Given the description of an element on the screen output the (x, y) to click on. 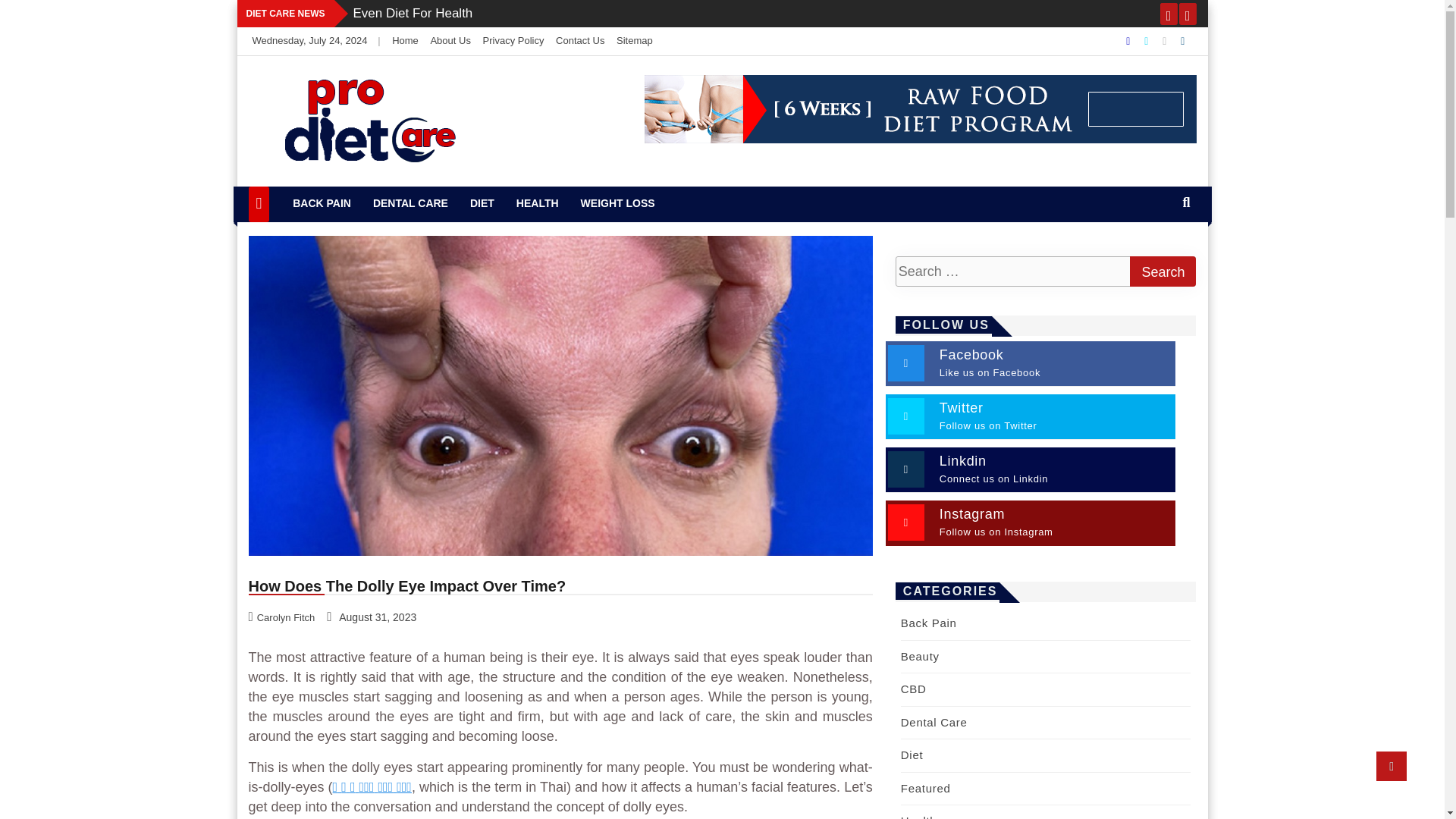
Search (1162, 271)
Pro Diet Care (338, 183)
Even Diet For Health (413, 12)
Contact Us (580, 40)
BACK PAIN (321, 203)
About Us (449, 40)
Sitemap (633, 40)
Home (405, 40)
Search (1162, 271)
Privacy Policy (513, 40)
